Given the description of an element on the screen output the (x, y) to click on. 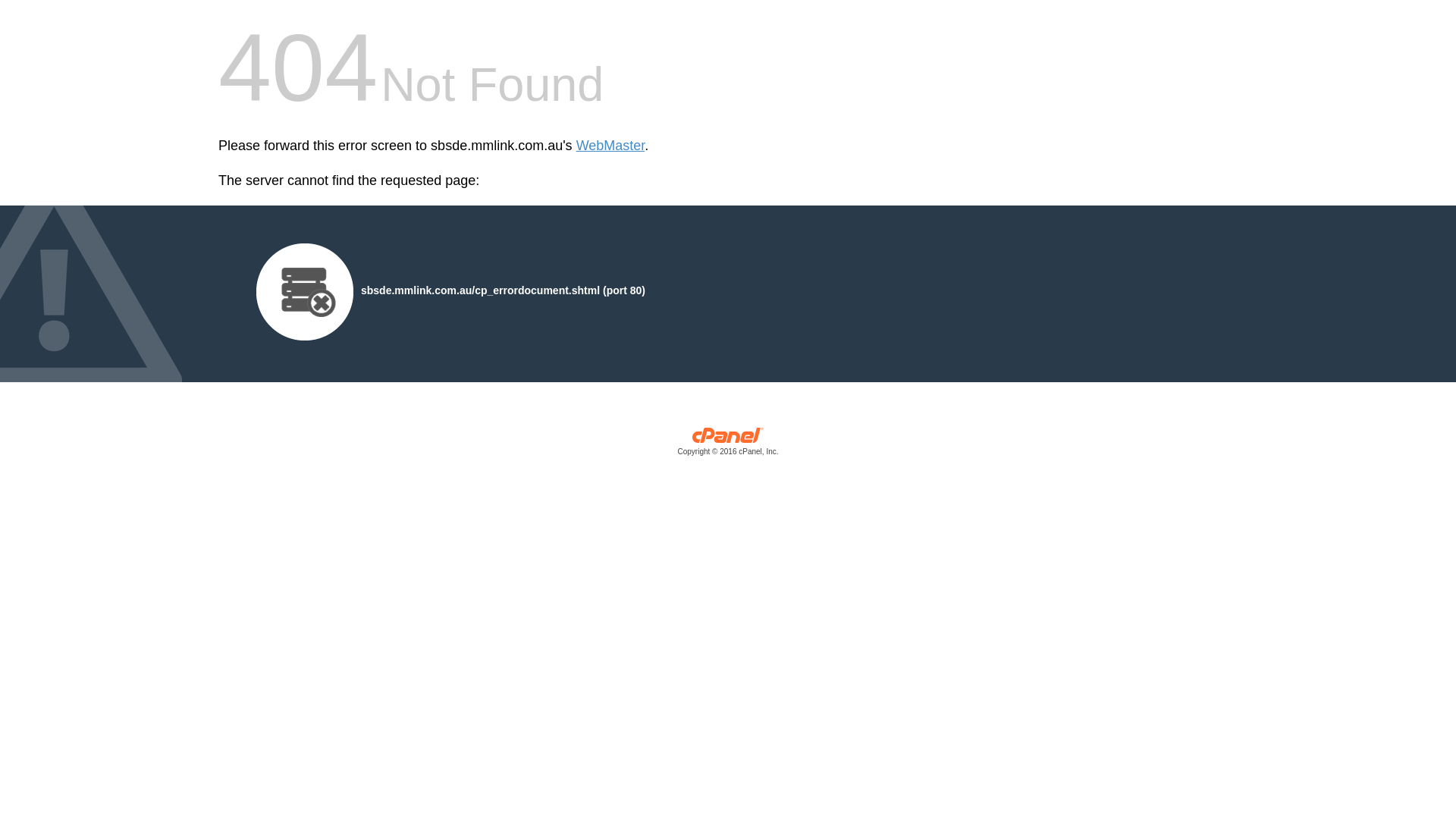
WebMaster Element type: text (610, 145)
